Given the description of an element on the screen output the (x, y) to click on. 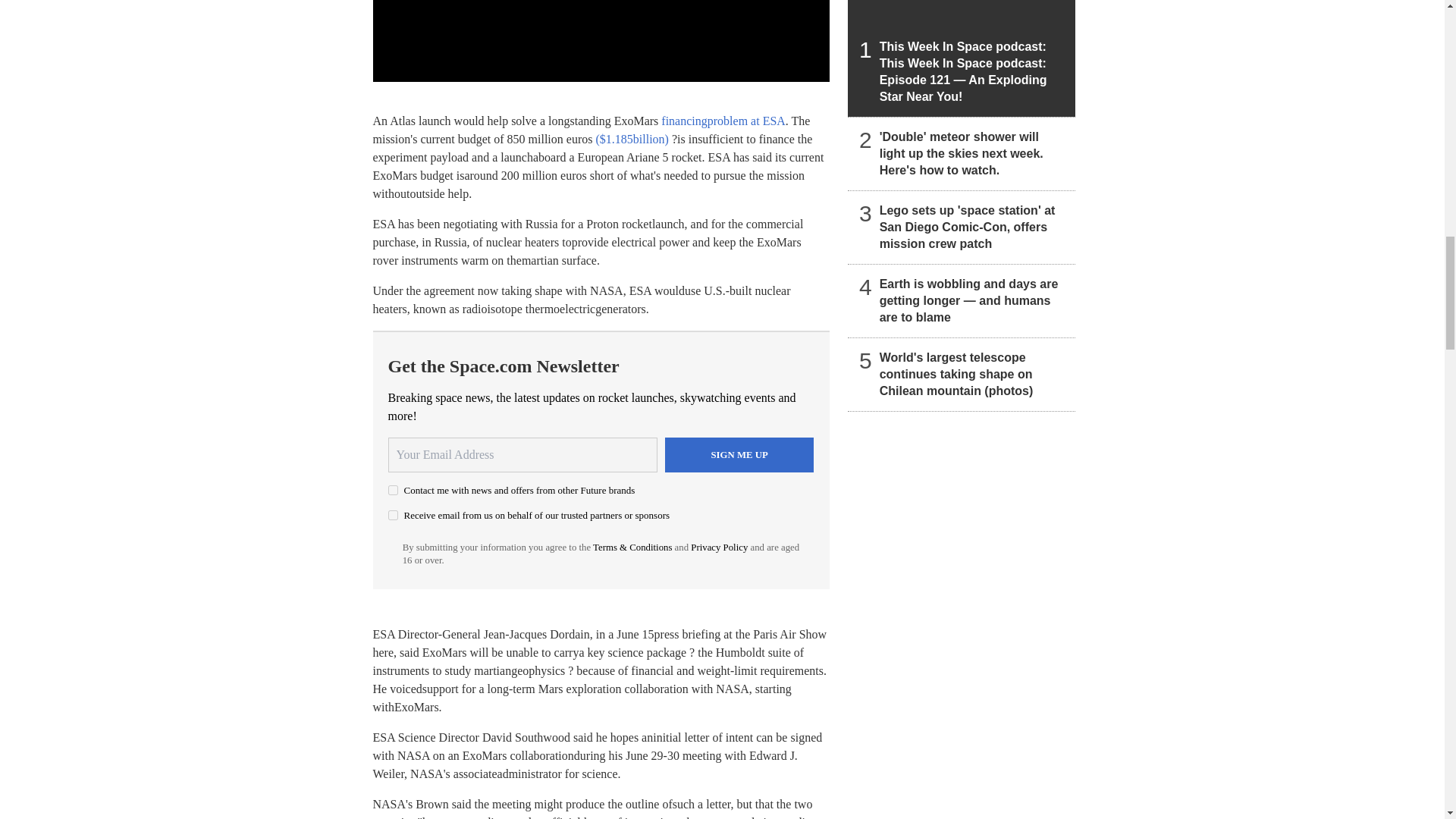
on (392, 515)
Sign me up (739, 454)
on (392, 490)
